Given the description of an element on the screen output the (x, y) to click on. 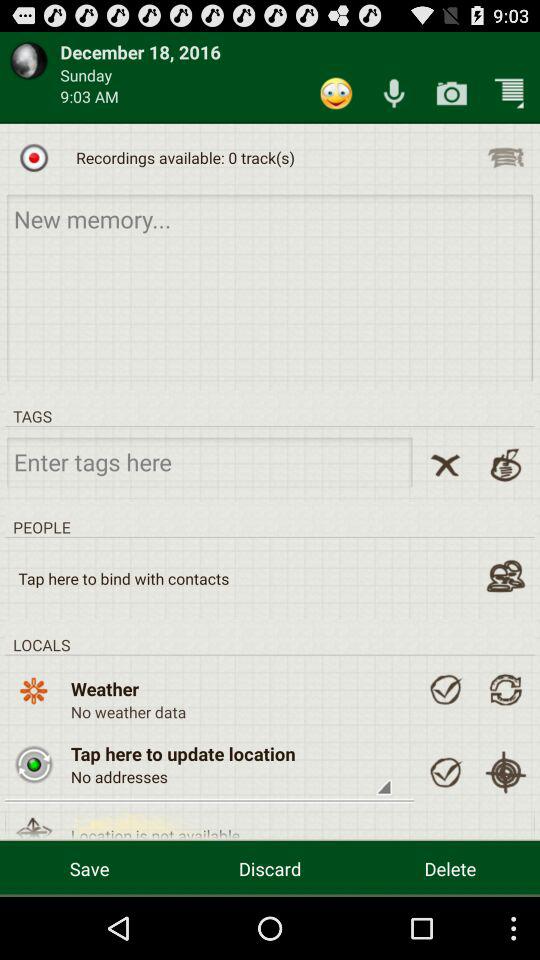
go to search (209, 461)
